Given the description of an element on the screen output the (x, y) to click on. 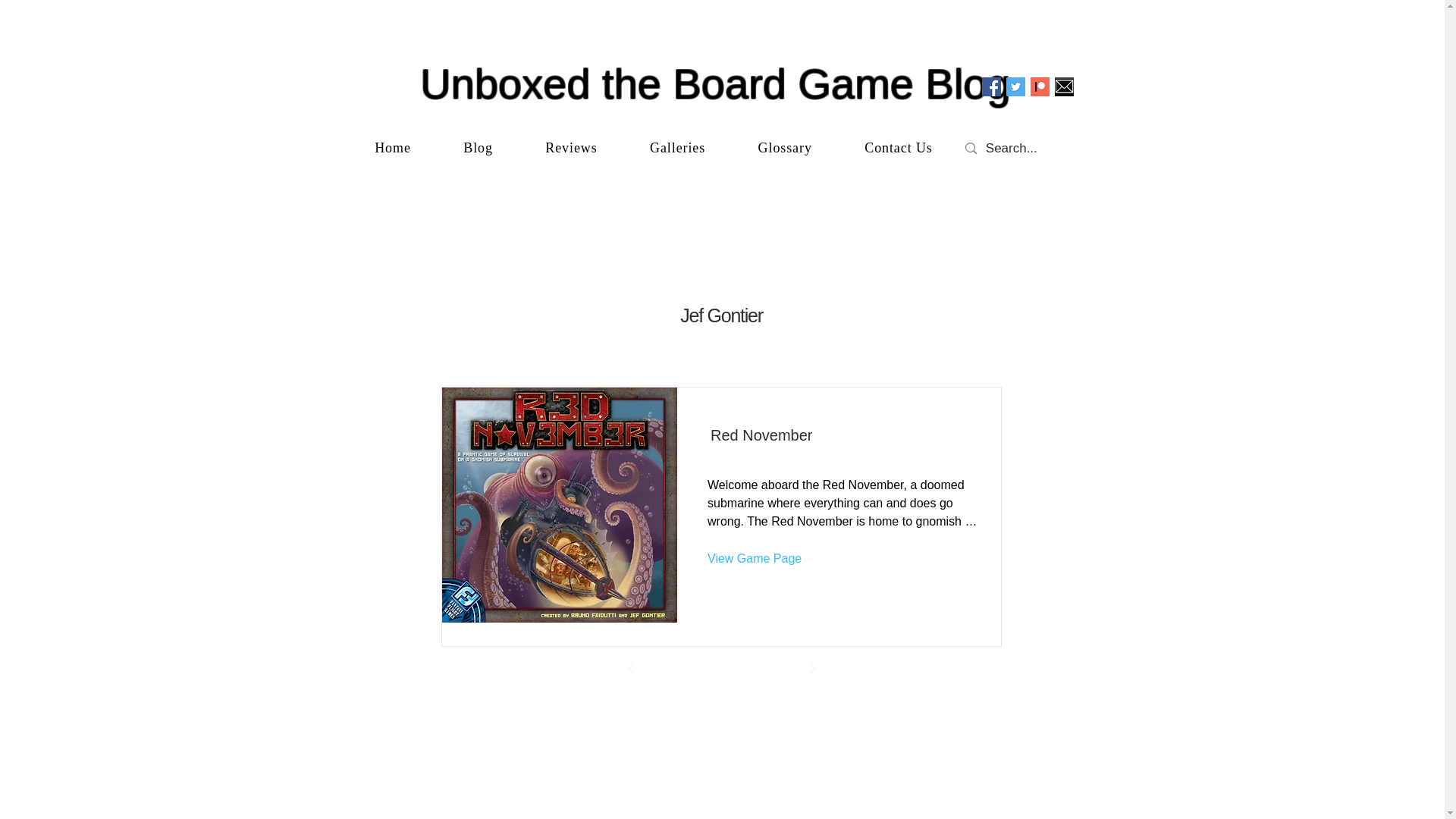
Blog (478, 147)
View Game Page (757, 558)
Galleries (677, 147)
Contact Us (898, 147)
Glossary (785, 147)
Home (392, 147)
Reviews (571, 147)
Unboxed the Board Game Blog (715, 83)
